Given the description of an element on the screen output the (x, y) to click on. 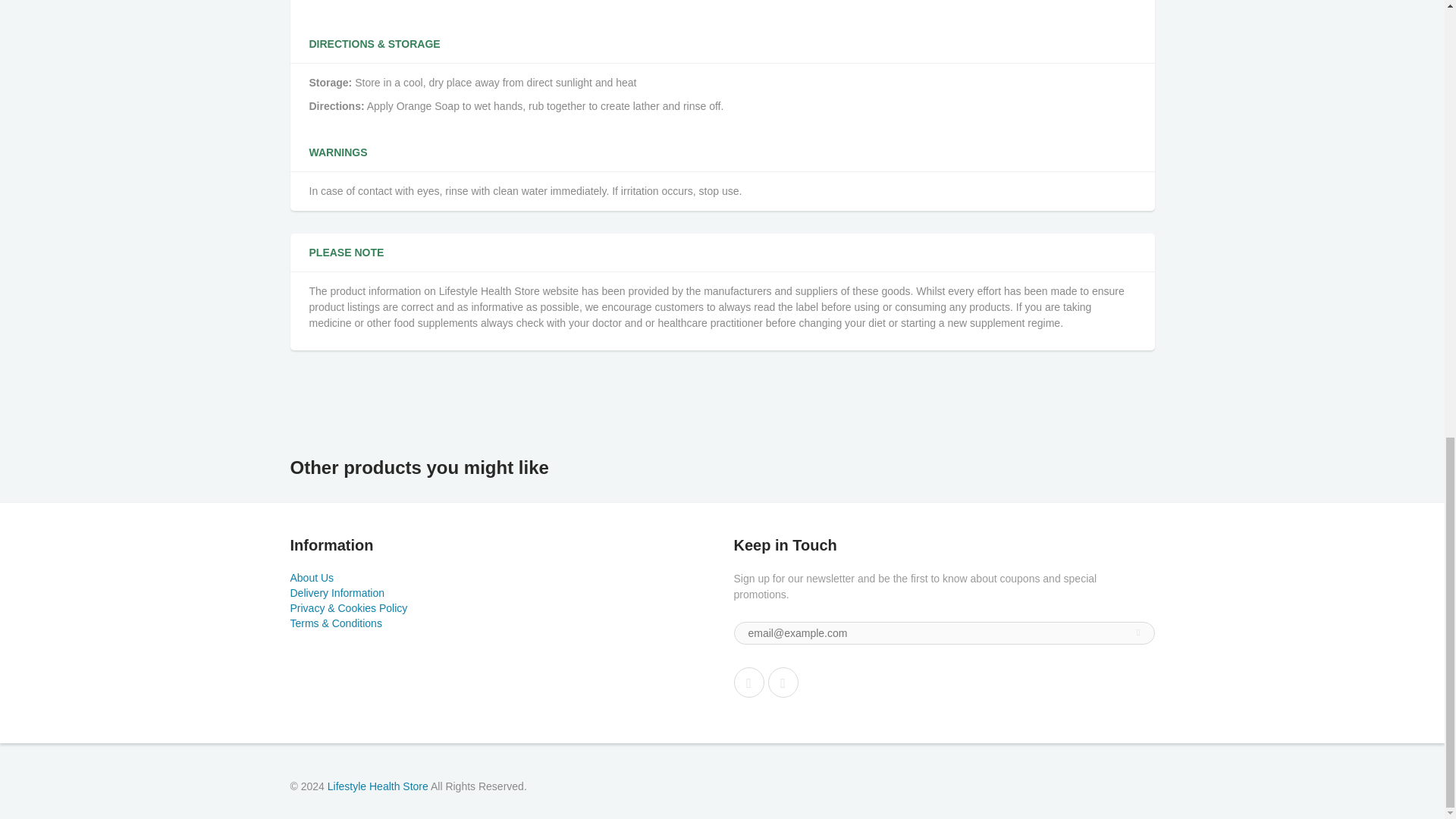
About Us (311, 577)
Instagram (782, 682)
Facebook (748, 682)
Delivery Information (336, 592)
